Given the description of an element on the screen output the (x, y) to click on. 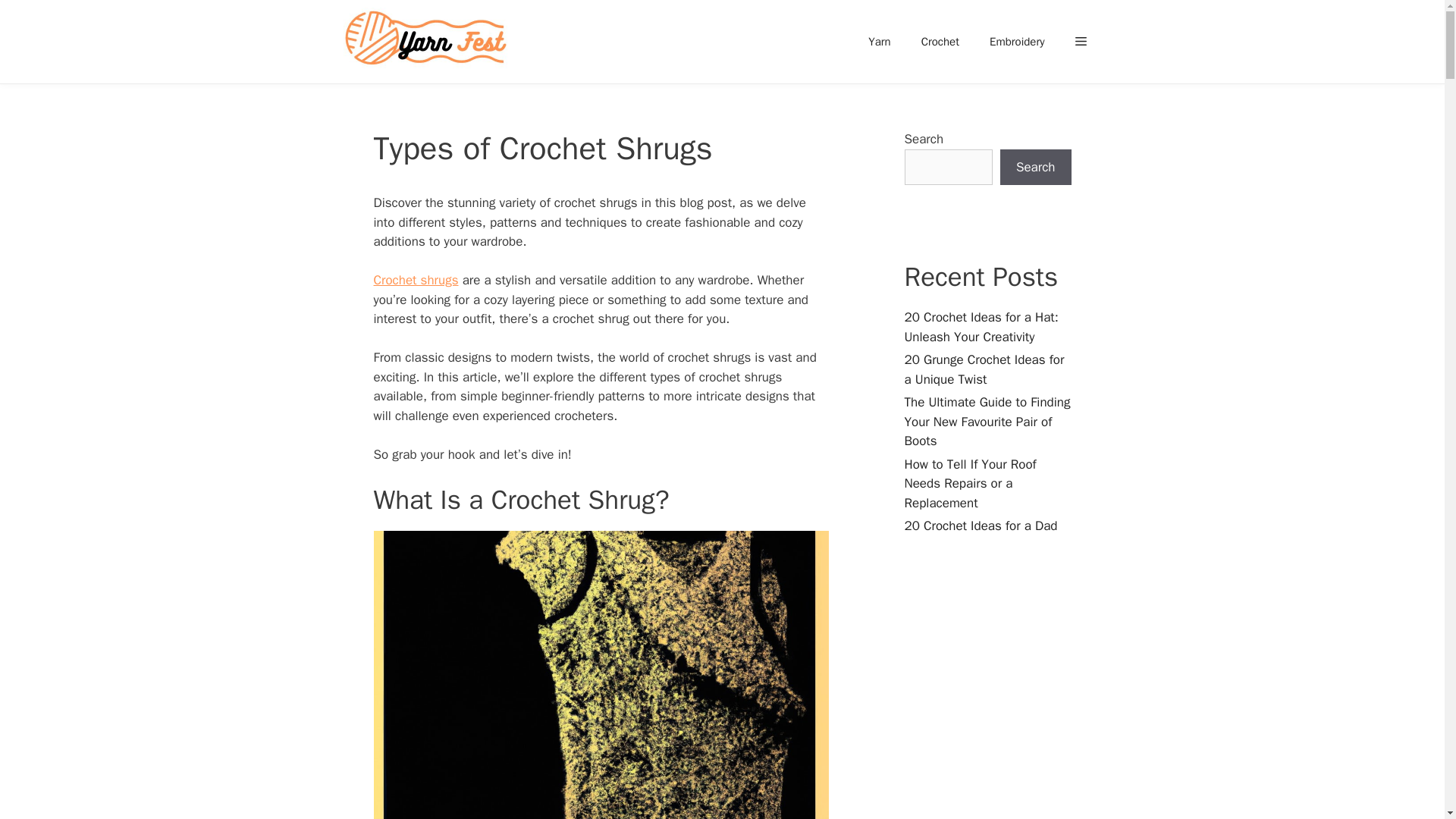
Search (1035, 166)
20 Grunge Crochet Ideas for a Unique Twist (984, 369)
How to Tell If Your Roof Needs Repairs or a Replacement (969, 483)
Yarn (879, 41)
Crochet (939, 41)
Embroidery (1016, 41)
Crochet shrugs (415, 279)
20 Crochet Ideas for a Hat: Unleash Your Creativity (981, 326)
Yarn Fest (425, 41)
20 Crochet Ideas for a Dad (980, 525)
Yarn Fest (429, 41)
